Given the description of an element on the screen output the (x, y) to click on. 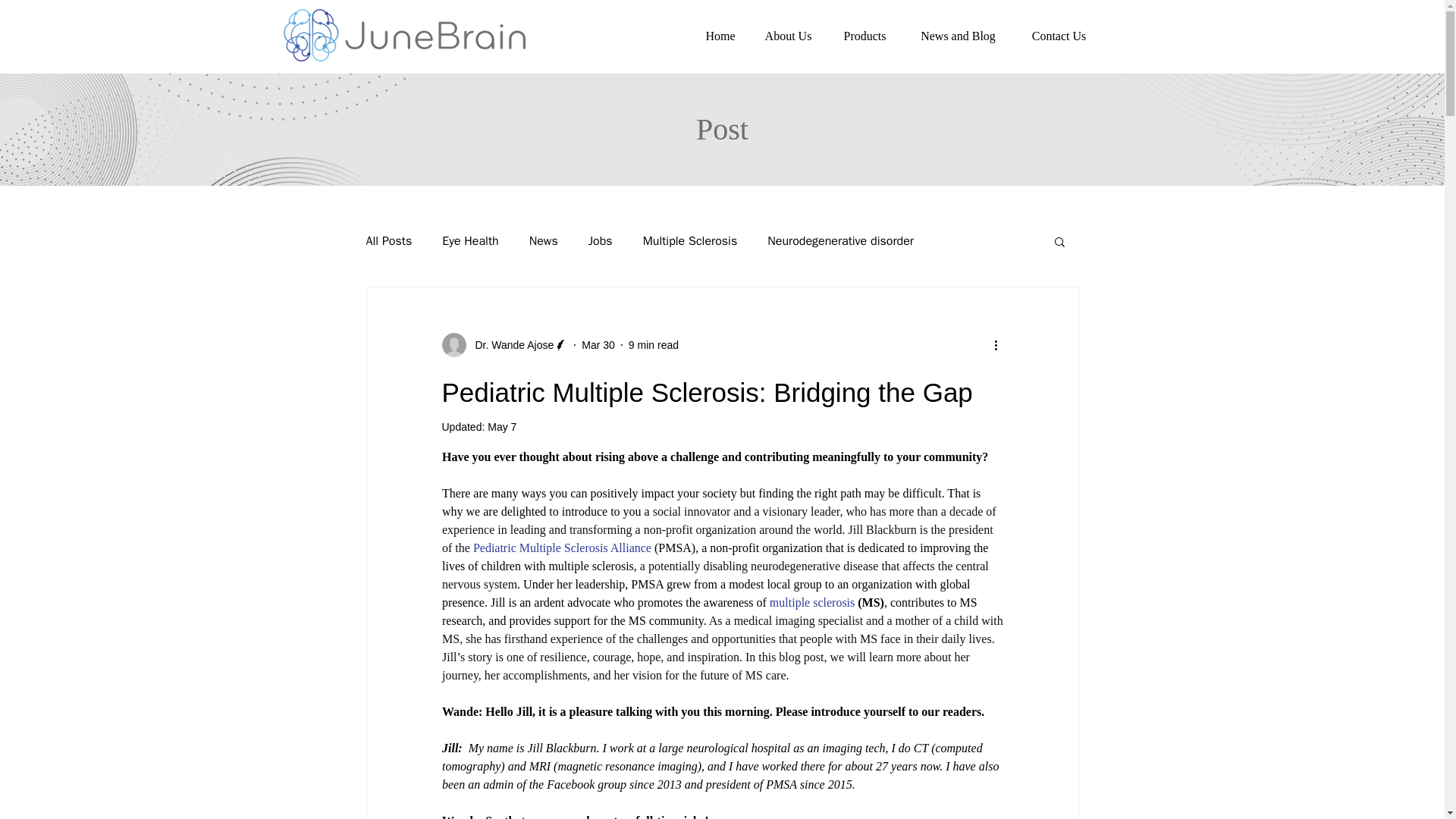
News (543, 241)
All Posts (388, 241)
Contact Us (1058, 36)
Dr. Wande Ajose (504, 344)
Home (720, 36)
About Us (788, 36)
multiple sclerosis (810, 602)
News and Blog (957, 36)
9 min read (653, 344)
Pediatric Multiple Sclerosis Alliance (560, 547)
